Given the description of an element on the screen output the (x, y) to click on. 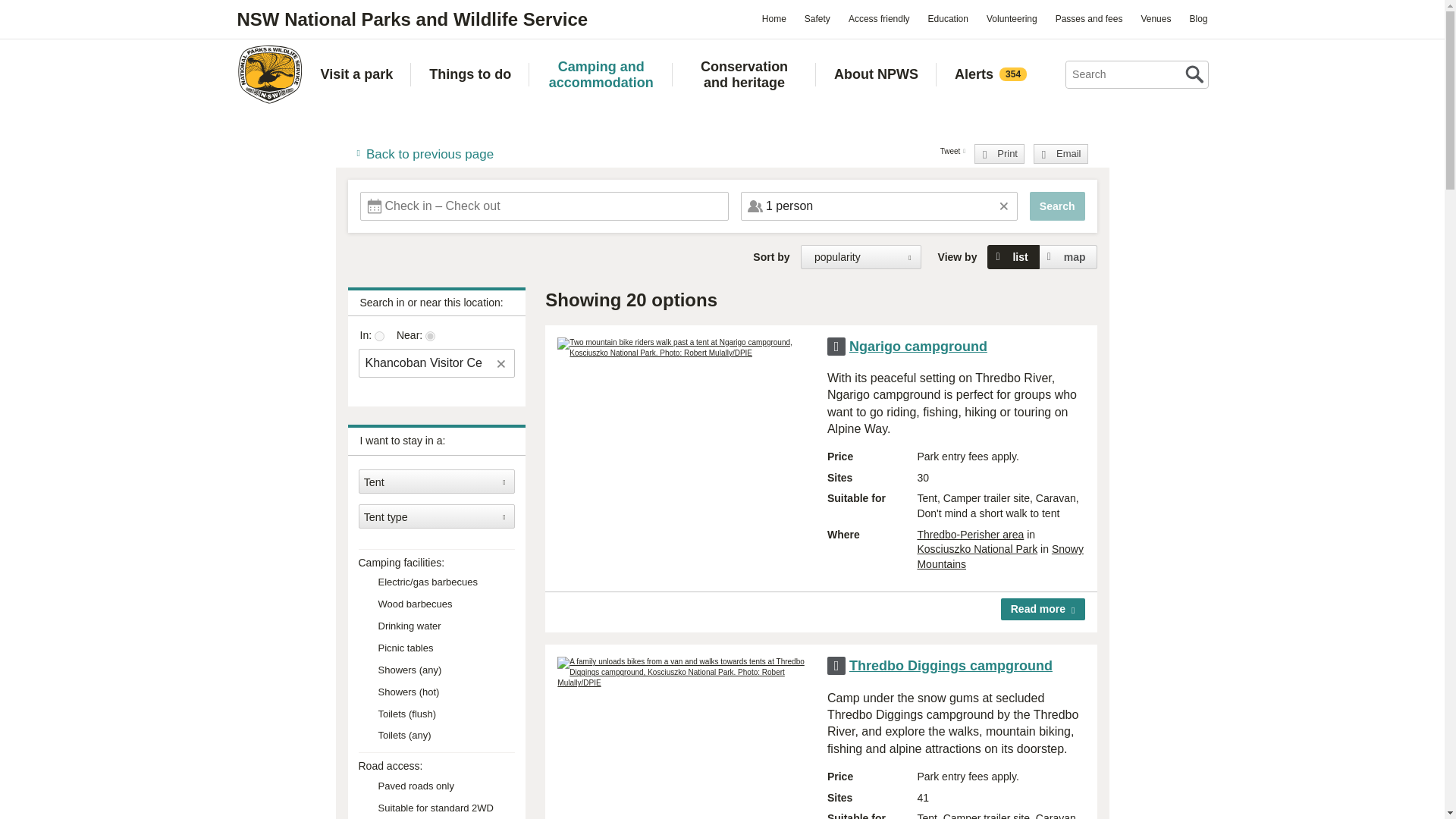
In (379, 336)
Blog (1197, 18)
Access friendly (879, 18)
Around (430, 336)
Safety (816, 18)
